Given the description of an element on the screen output the (x, y) to click on. 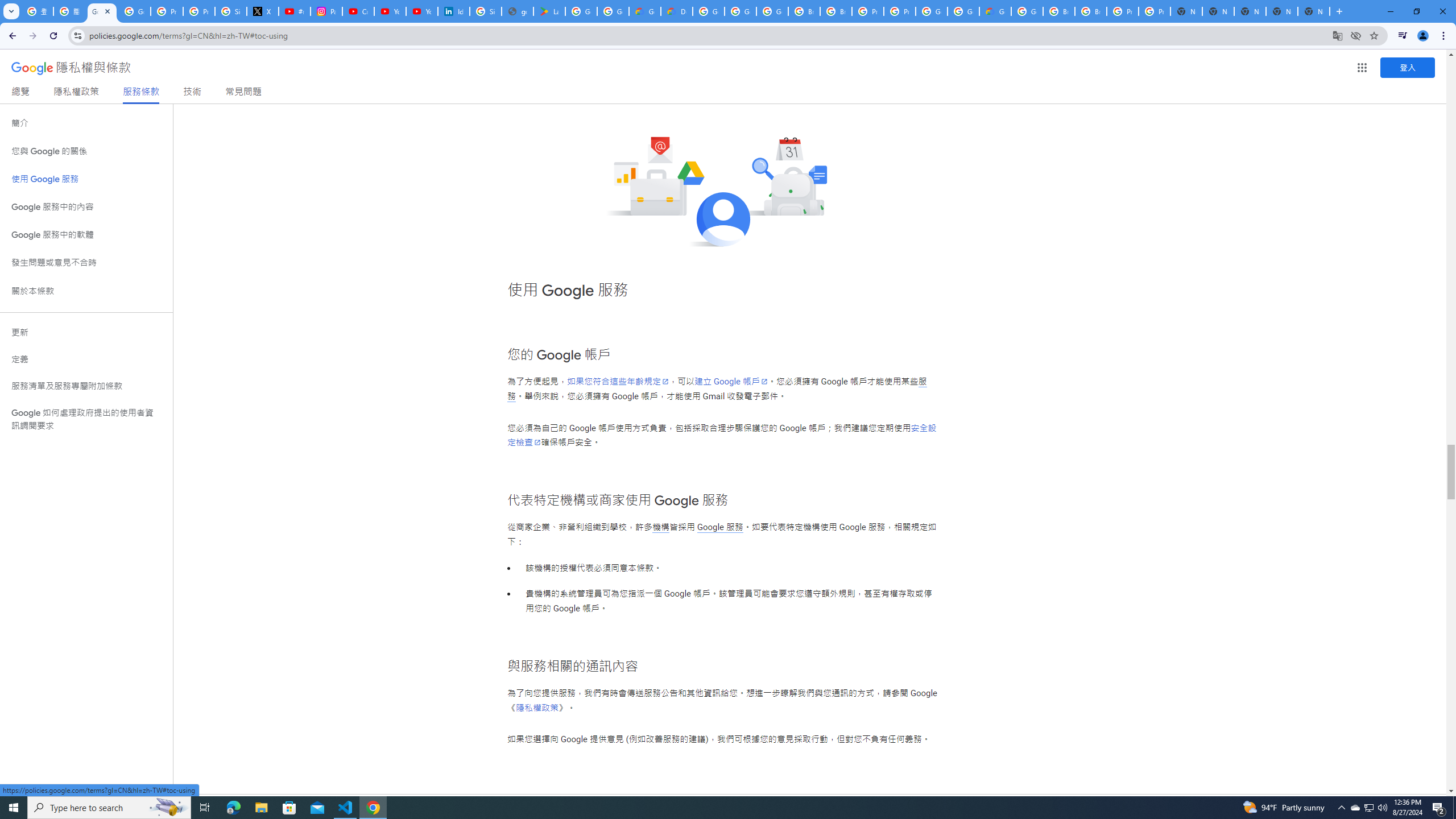
Privacy Help Center - Policies Help (198, 11)
#nbabasketballhighlights - YouTube (294, 11)
X (262, 11)
